Given the description of an element on the screen output the (x, y) to click on. 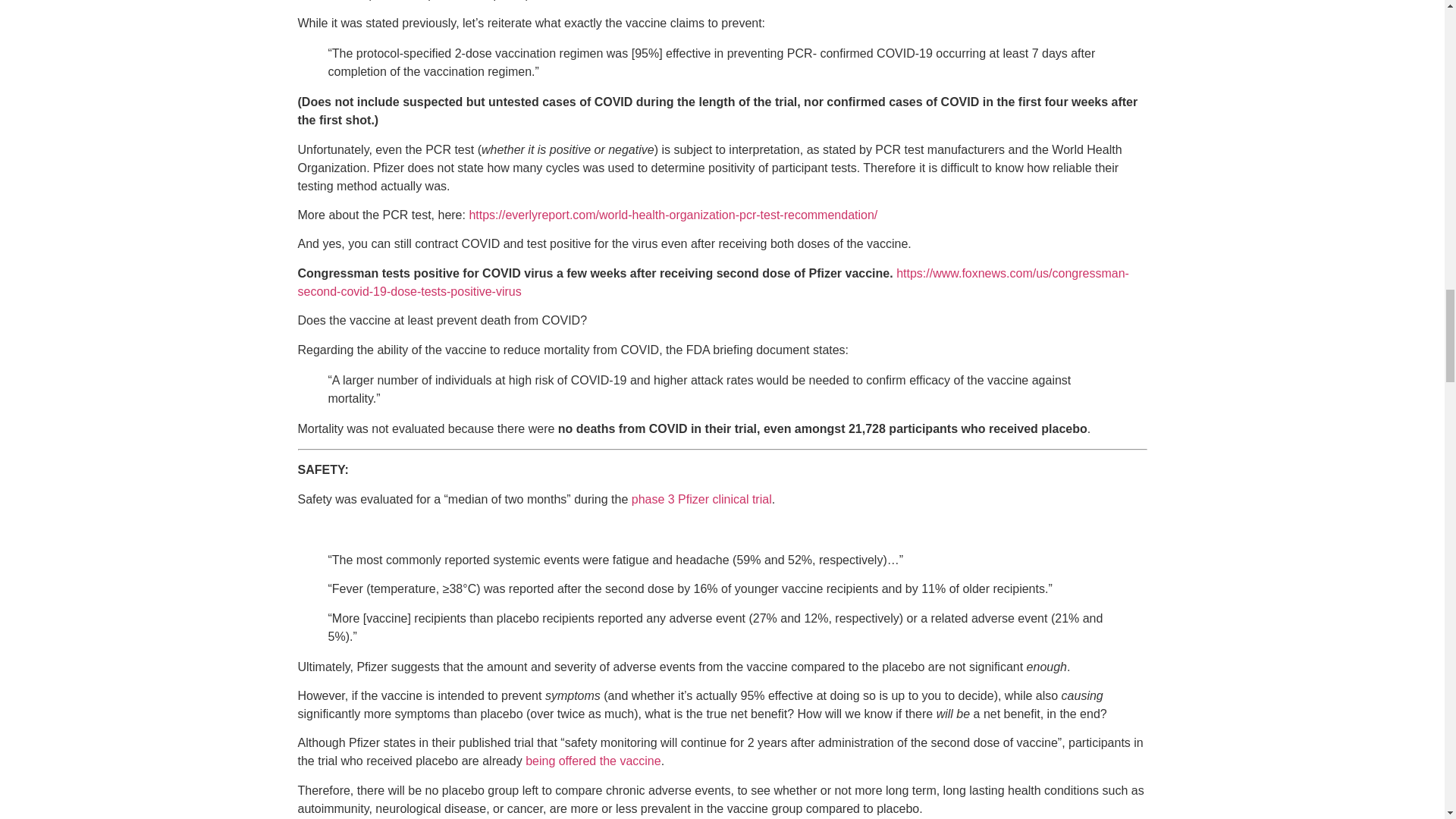
phase 3 Pfizer clinical trial (701, 499)
being offered the vaccine (593, 760)
